Given the description of an element on the screen output the (x, y) to click on. 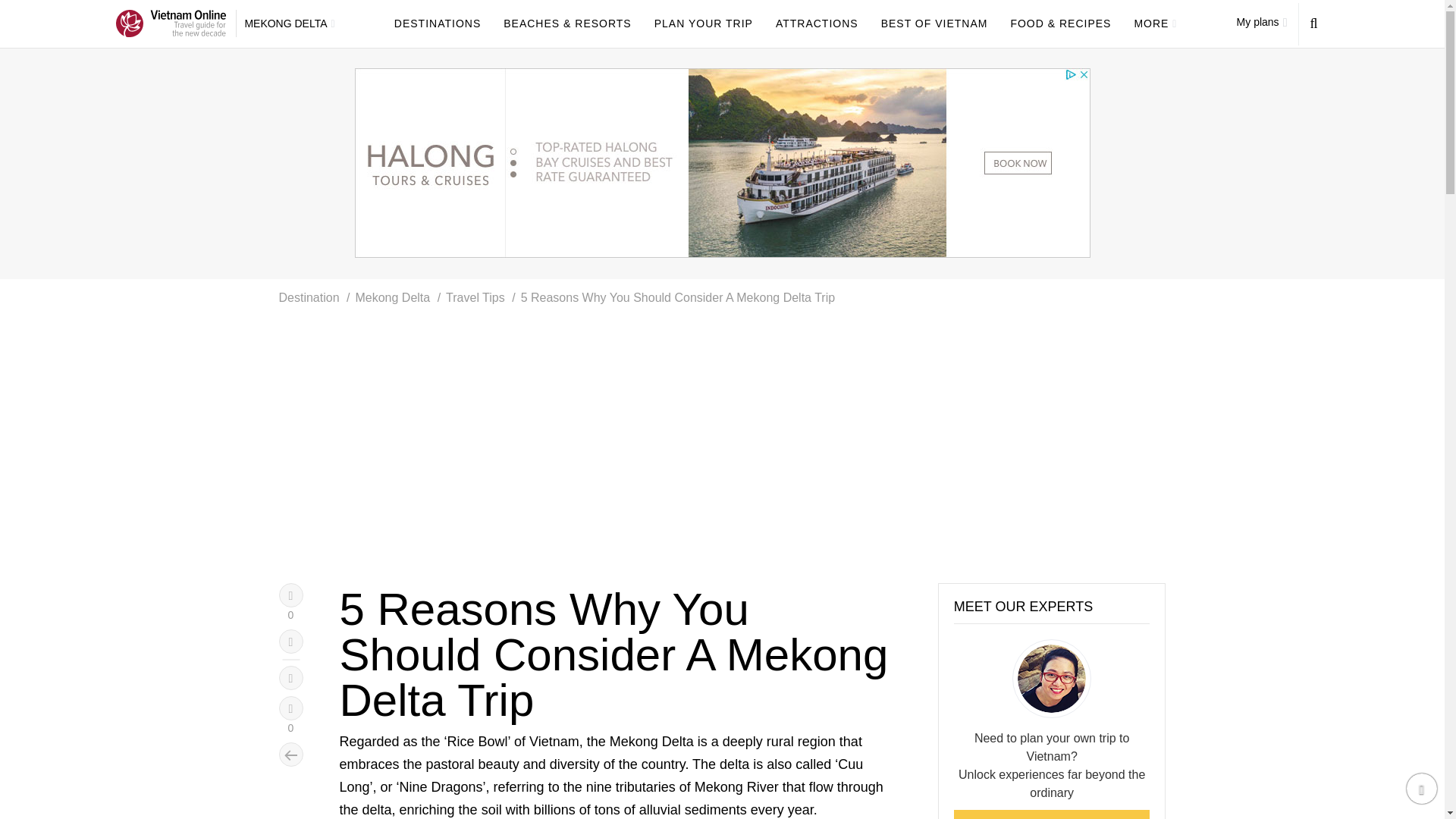
Advertisement (617, 480)
Destination (309, 297)
My plans (1261, 21)
PLAN YOUR TRIP (702, 23)
DESTINATIONS (437, 23)
ATTRACTIONS (817, 23)
Mekong Delta (392, 297)
MORE (1155, 23)
BEST OF VIETNAM (934, 23)
Travel Tips (475, 297)
